Given the description of an element on the screen output the (x, y) to click on. 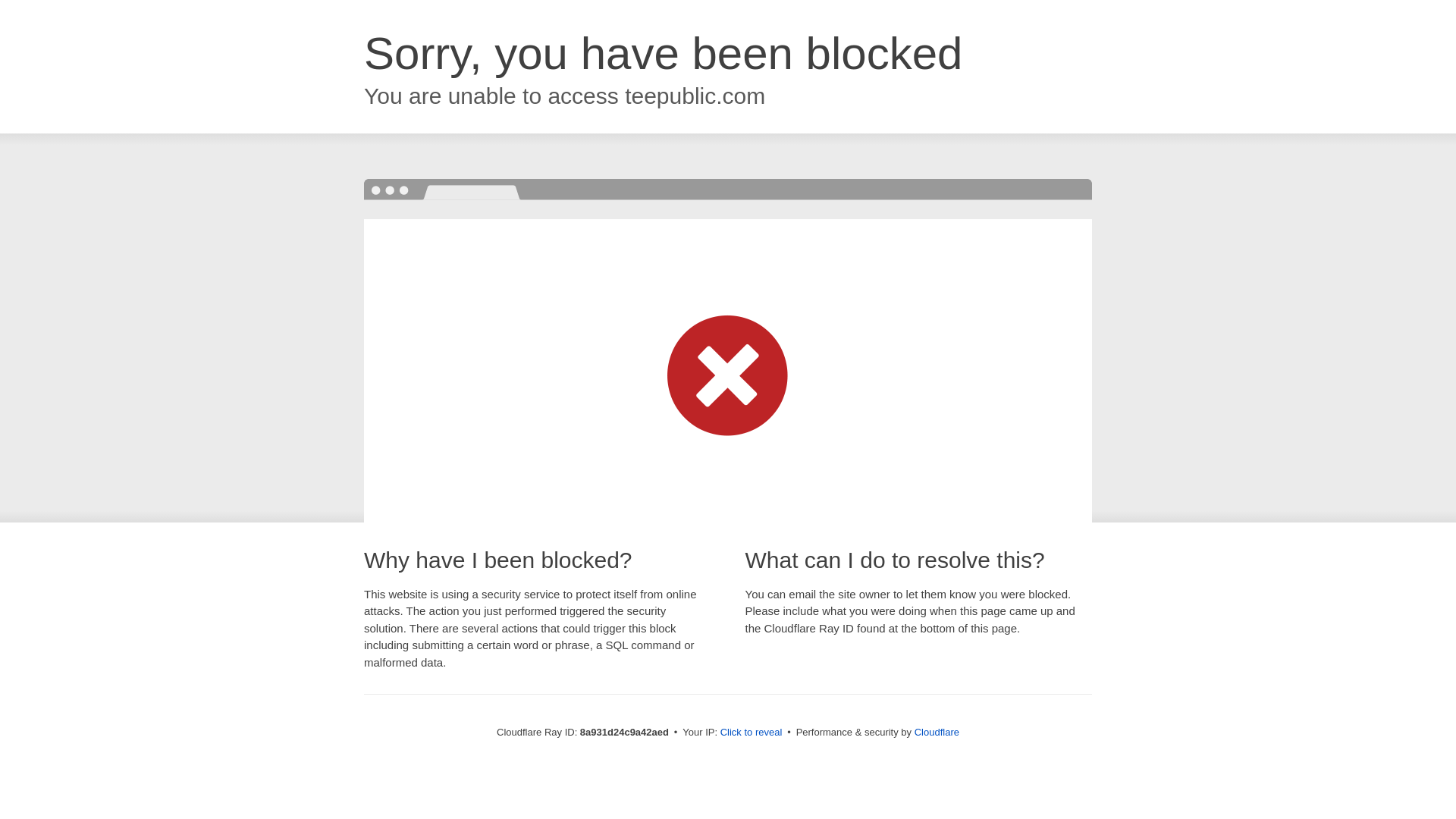
Click to reveal (751, 732)
Cloudflare (936, 731)
